Given the description of an element on the screen output the (x, y) to click on. 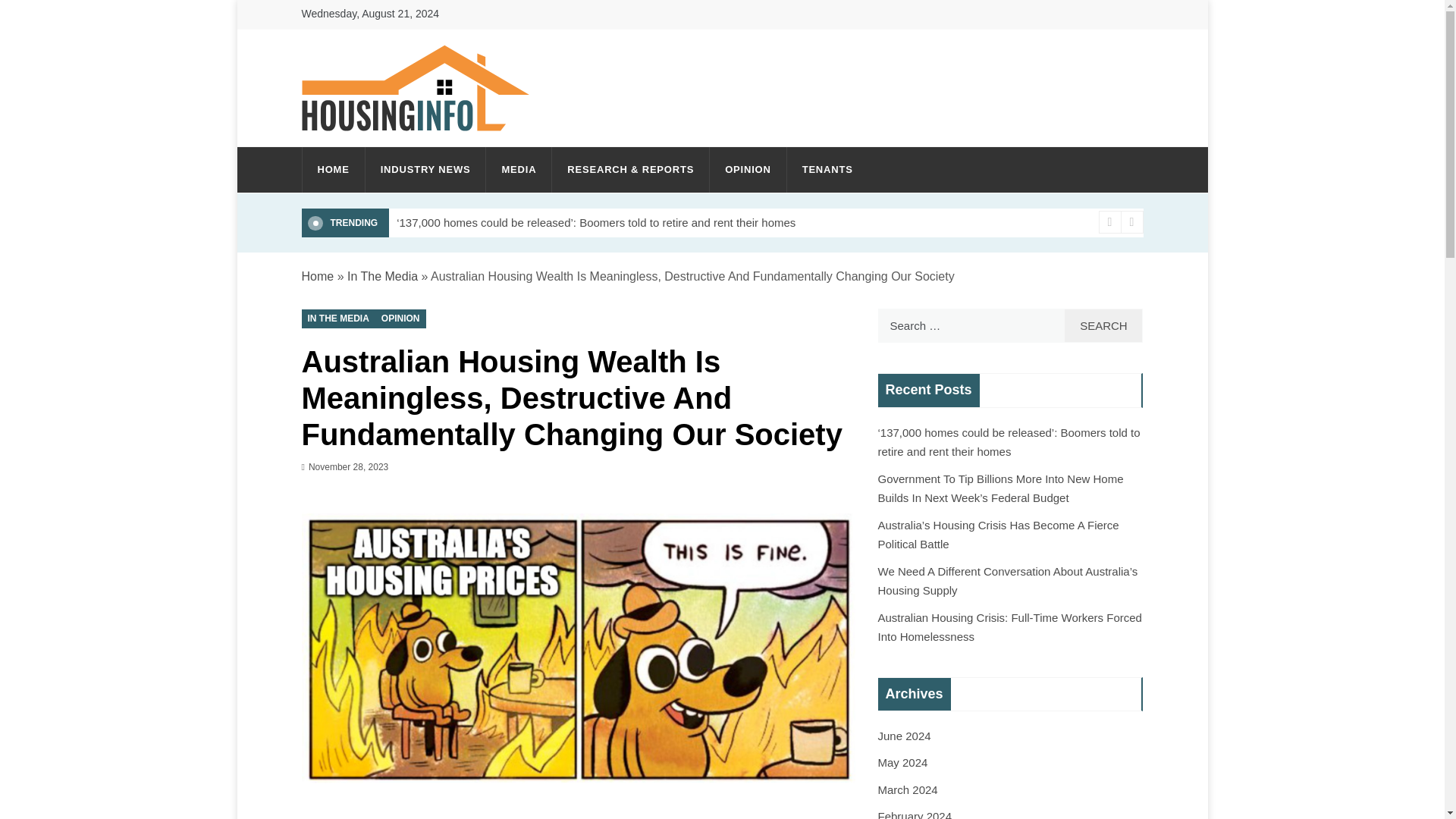
HOME (332, 169)
OPINION (748, 169)
Search (1103, 325)
Search (1103, 325)
HousingInfo.com.au (446, 147)
MEDIA (518, 169)
INDUSTRY NEWS (425, 169)
TENANTS (820, 169)
